Given the description of an element on the screen output the (x, y) to click on. 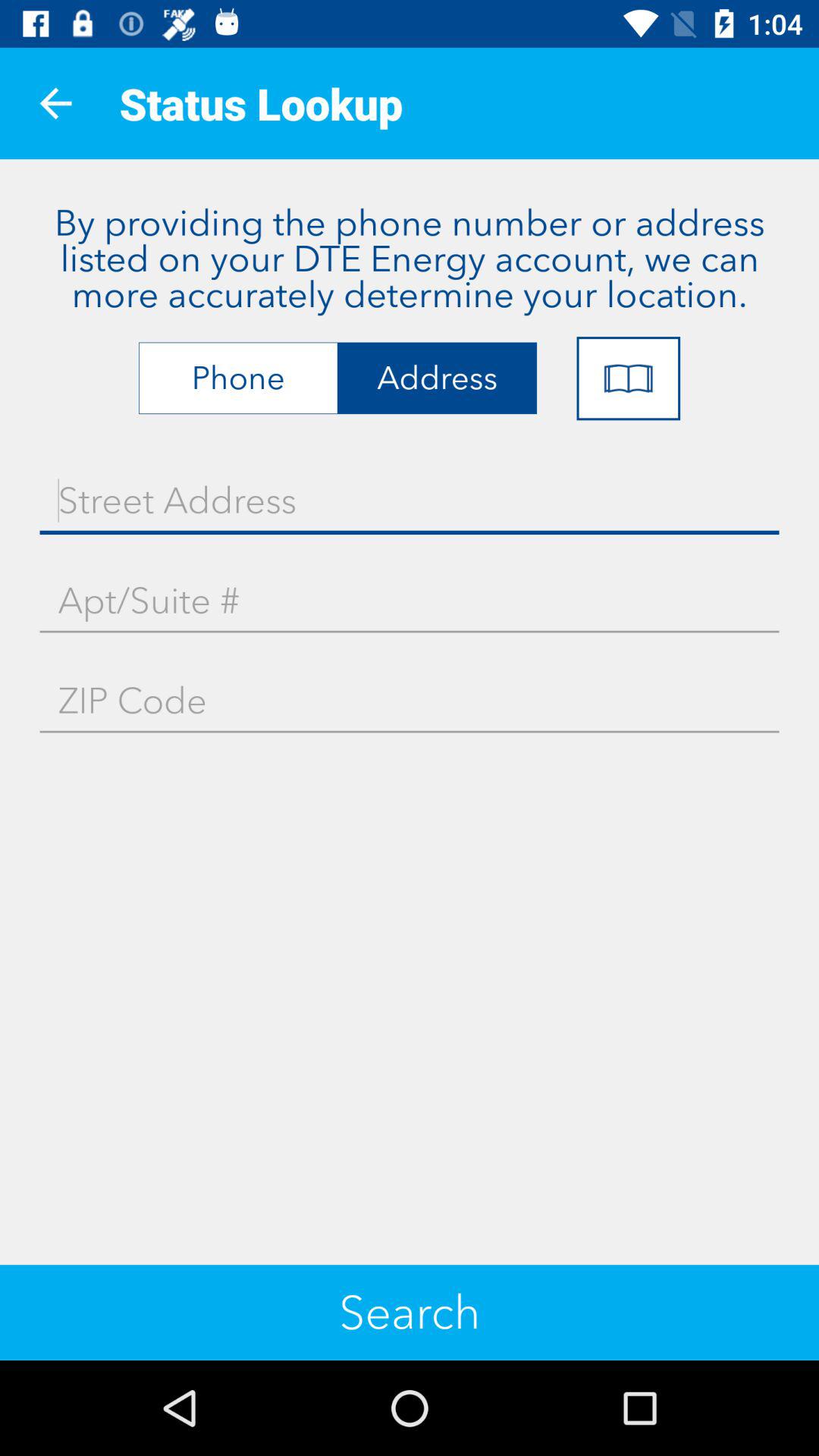
launch item at the top right corner (628, 378)
